Given the description of an element on the screen output the (x, y) to click on. 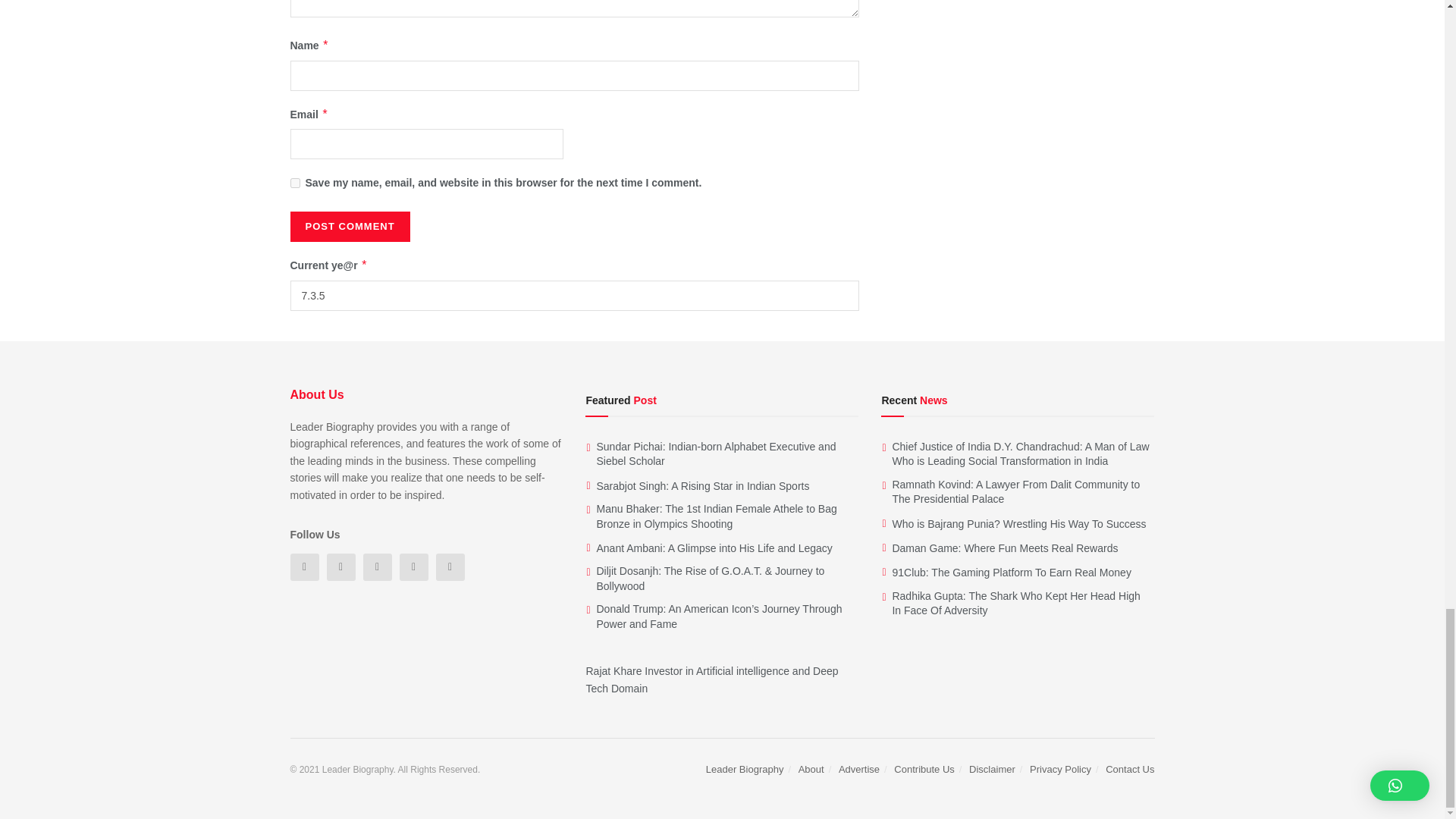
Post Comment (349, 226)
yes (294, 183)
7.3.5 (574, 295)
